Given the description of an element on the screen output the (x, y) to click on. 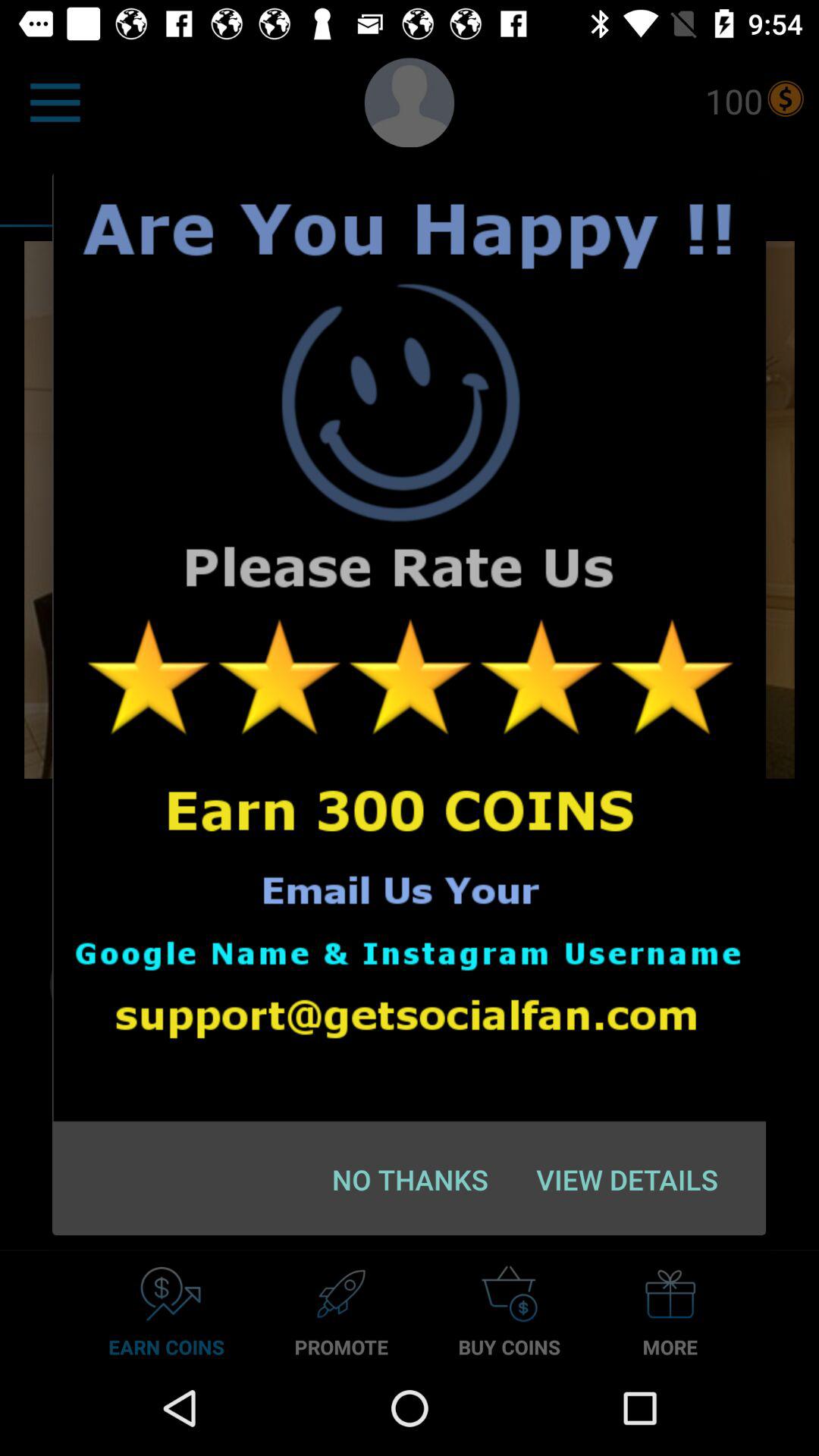
tap the view details item (627, 1179)
